Given the description of an element on the screen output the (x, y) to click on. 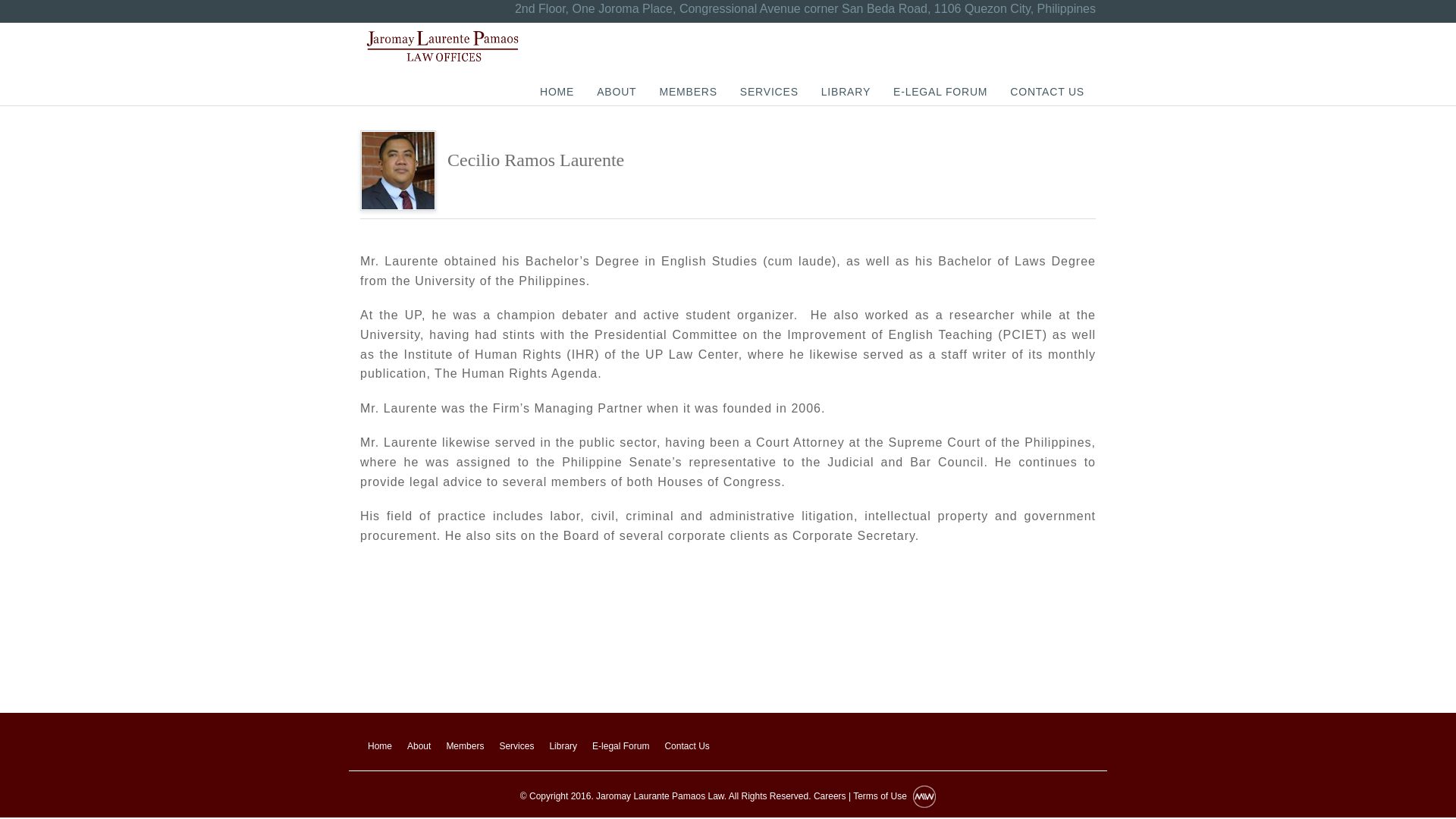
Designed by: MiW Design Studio (924, 796)
E-legal Forum (620, 746)
Services (516, 746)
Careers (829, 796)
E-LEGAL FORUM (940, 91)
Members (464, 746)
HOME (556, 91)
MEMBERS (687, 91)
LIBRARY (845, 91)
